Given the description of an element on the screen output the (x, y) to click on. 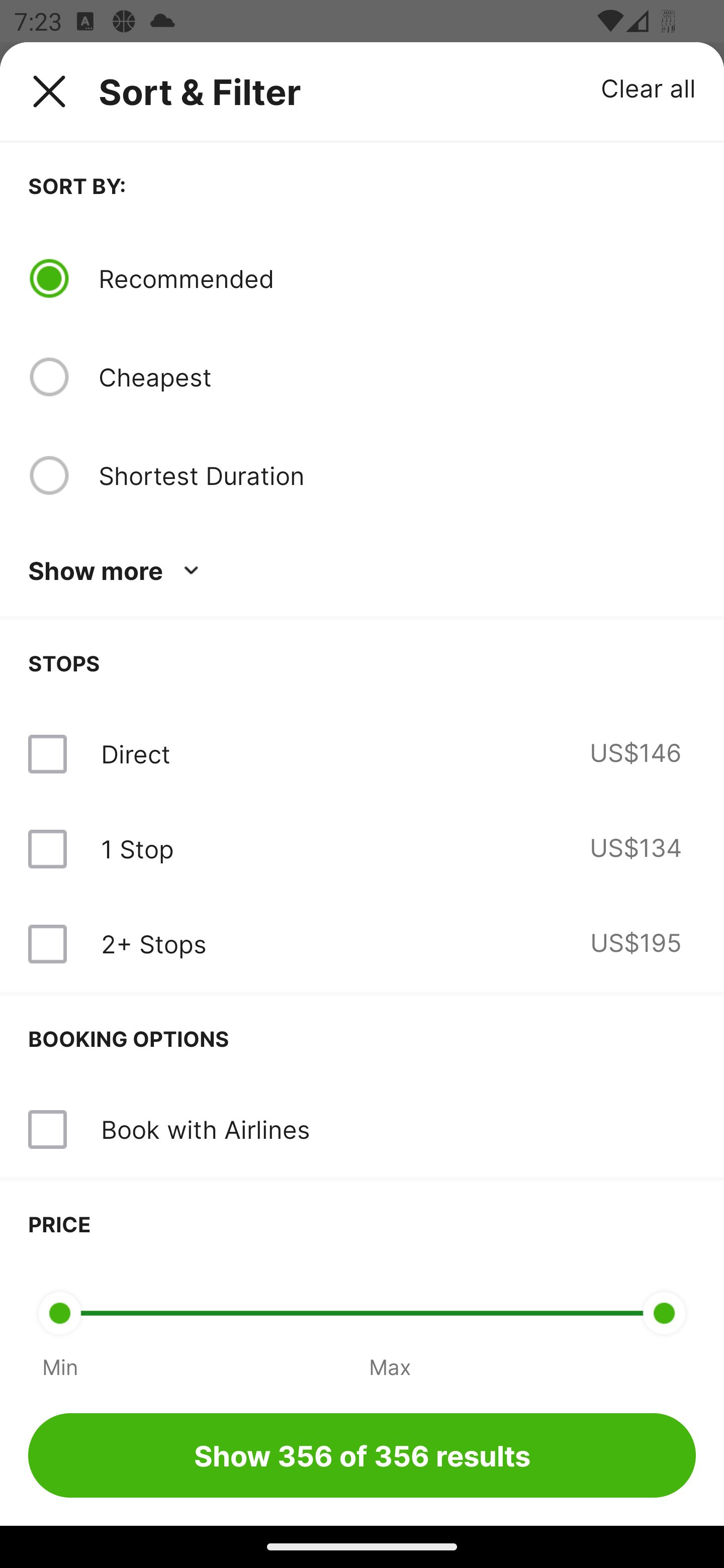
Clear all (648, 87)
Recommended  (396, 278)
Cheapest (396, 377)
Shortest Duration (396, 474)
Show more (116, 570)
Direct US$146 (362, 754)
Direct (135, 753)
1 Stop US$134 (362, 848)
1 Stop (136, 849)
2+ Stops US$195 (362, 943)
2+ Stops (153, 943)
Book with Airlines (362, 1129)
Book with Airlines (204, 1128)
Show 356 of 356 results (361, 1454)
